Given the description of an element on the screen output the (x, y) to click on. 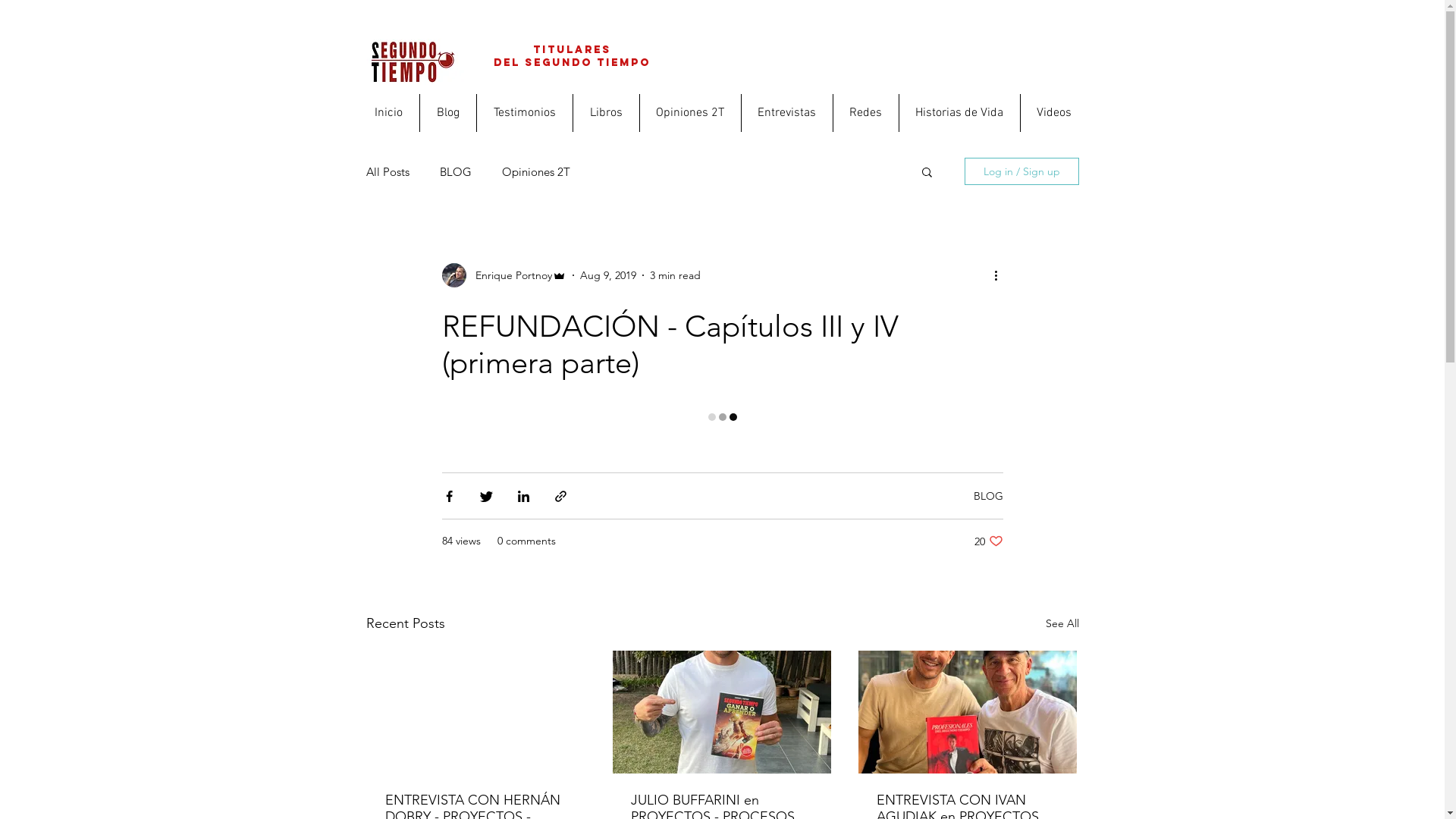
See All Element type: text (1061, 623)
BLOG Element type: text (456, 171)
Opiniones 2T Element type: text (685, 112)
Blog Element type: text (444, 112)
Log in / Sign up Element type: text (1022, 171)
Inicio Element type: text (387, 112)
Videos Element type: text (1054, 112)
All Posts Element type: text (387, 171)
Redes Element type: text (862, 112)
Testimonios Element type: text (520, 112)
Historias de Vida Element type: text (957, 112)
Opiniones 2T Element type: text (536, 171)
Libros Element type: text (600, 112)
Entrevistas Element type: text (783, 112)
20 likes. Post not marked as liked
20 Element type: text (987, 540)
BLOG Element type: text (988, 495)
